Given the description of an element on the screen output the (x, y) to click on. 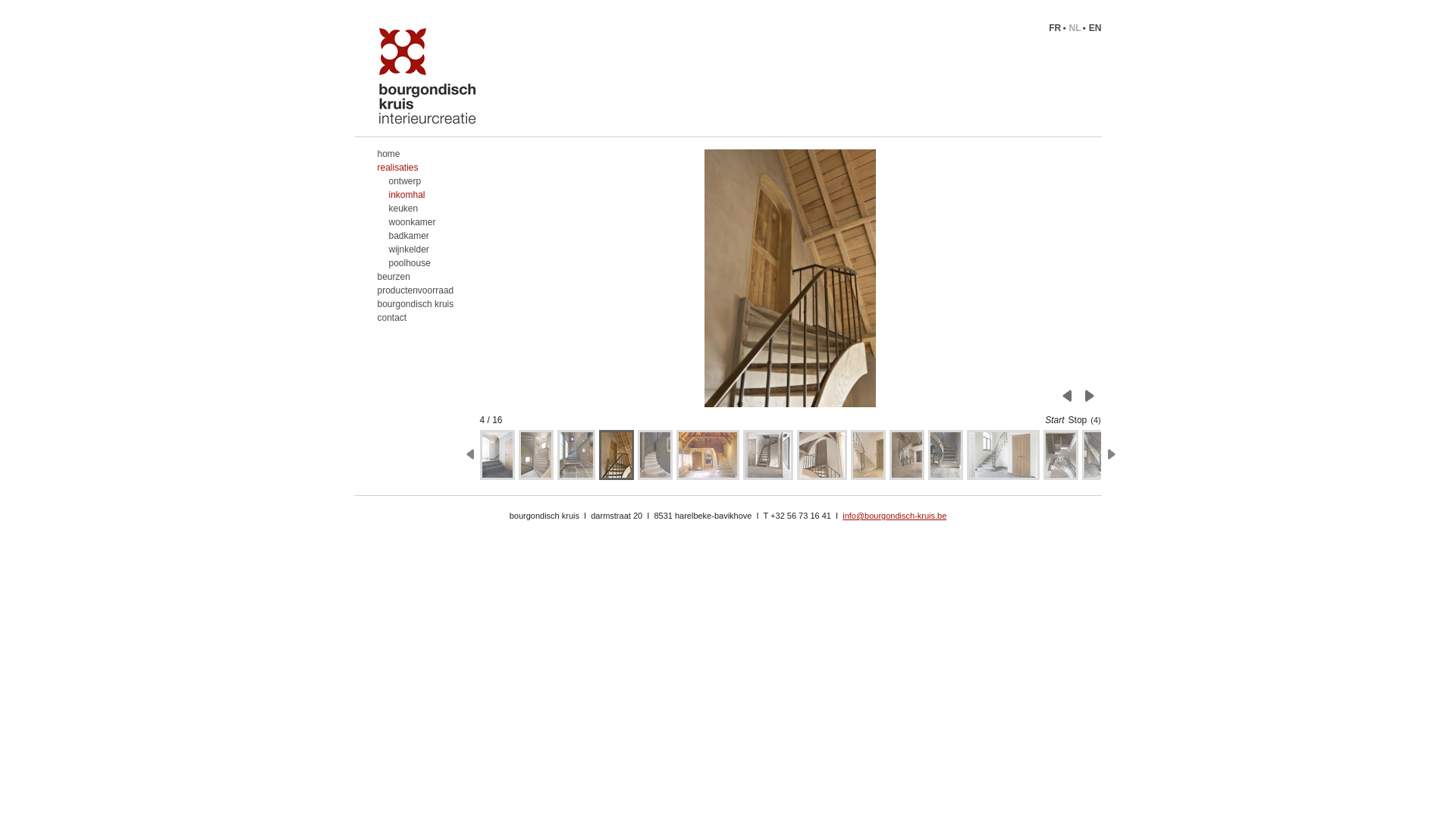
EN Element type: text (1094, 27)
inkomhal Element type: text (411, 194)
keuken Element type: text (411, 208)
productenvoorraad Element type: text (415, 290)
ontwerp Element type: text (411, 180)
FR Element type: text (1057, 27)
woonkamer Element type: text (411, 221)
poolhouse Element type: text (411, 262)
beurzen Element type: text (393, 276)
NL Element type: text (1076, 27)
bourgondisch kruis Element type: text (415, 303)
home Element type: text (388, 153)
wijnkelder Element type: text (411, 249)
realisaties Element type: text (397, 167)
info@bourgondisch-kruis.be Element type: text (894, 515)
badkamer Element type: text (411, 235)
contact Element type: text (392, 317)
